Given the description of an element on the screen output the (x, y) to click on. 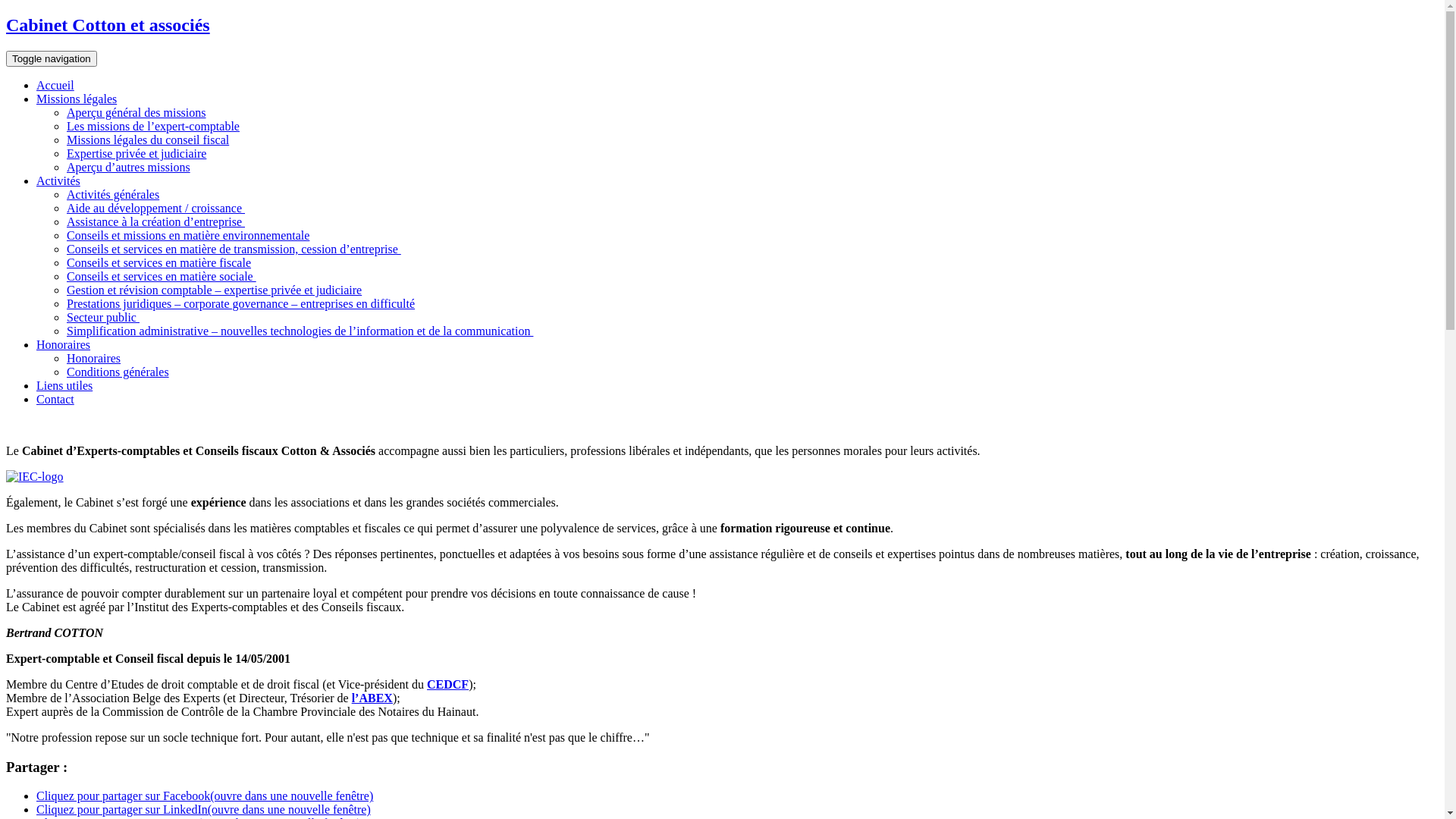
Accueil Element type: text (55, 84)
Contact Element type: text (55, 398)
Secteur public  Element type: text (102, 316)
CEDCF Element type: text (447, 683)
Liens utiles Element type: text (64, 385)
Toggle navigation Element type: text (51, 58)
Honoraires Element type: text (93, 357)
Honoraires Element type: text (63, 344)
